Given the description of an element on the screen output the (x, y) to click on. 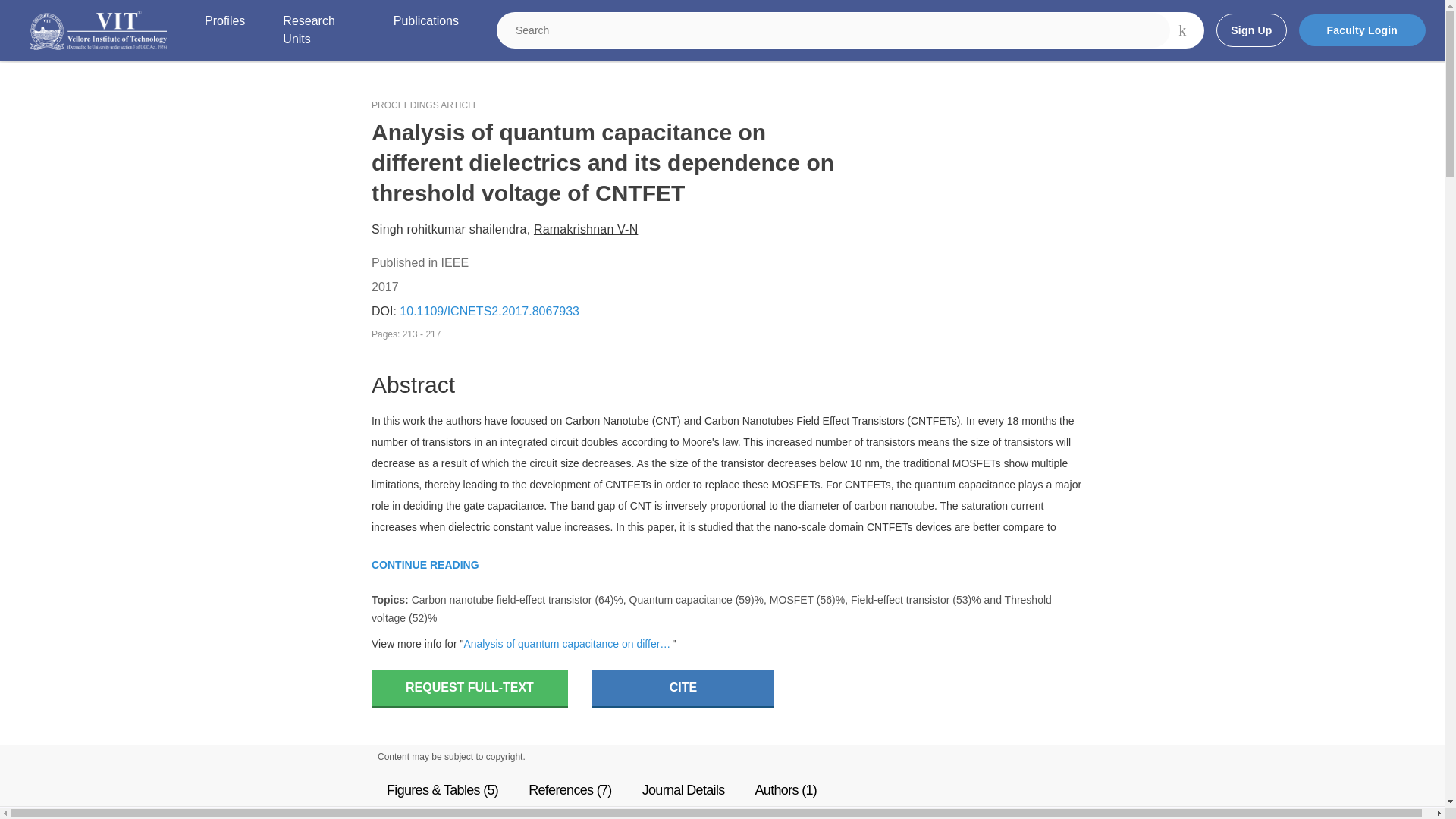
Faculty Login (1361, 29)
Carbon nanotube field-effect transistor (502, 599)
Publications (425, 30)
Profiles (224, 30)
Ramakrishnan V-N (585, 228)
REQUEST FULL-TEXT (469, 688)
Threshold voltage (711, 608)
CITE (683, 688)
Sign Up (1250, 29)
Journal Details (683, 789)
MOSFET (791, 599)
Research Units (318, 30)
Field-effect transistor (899, 599)
Quantum capacitance (680, 599)
